Given the description of an element on the screen output the (x, y) to click on. 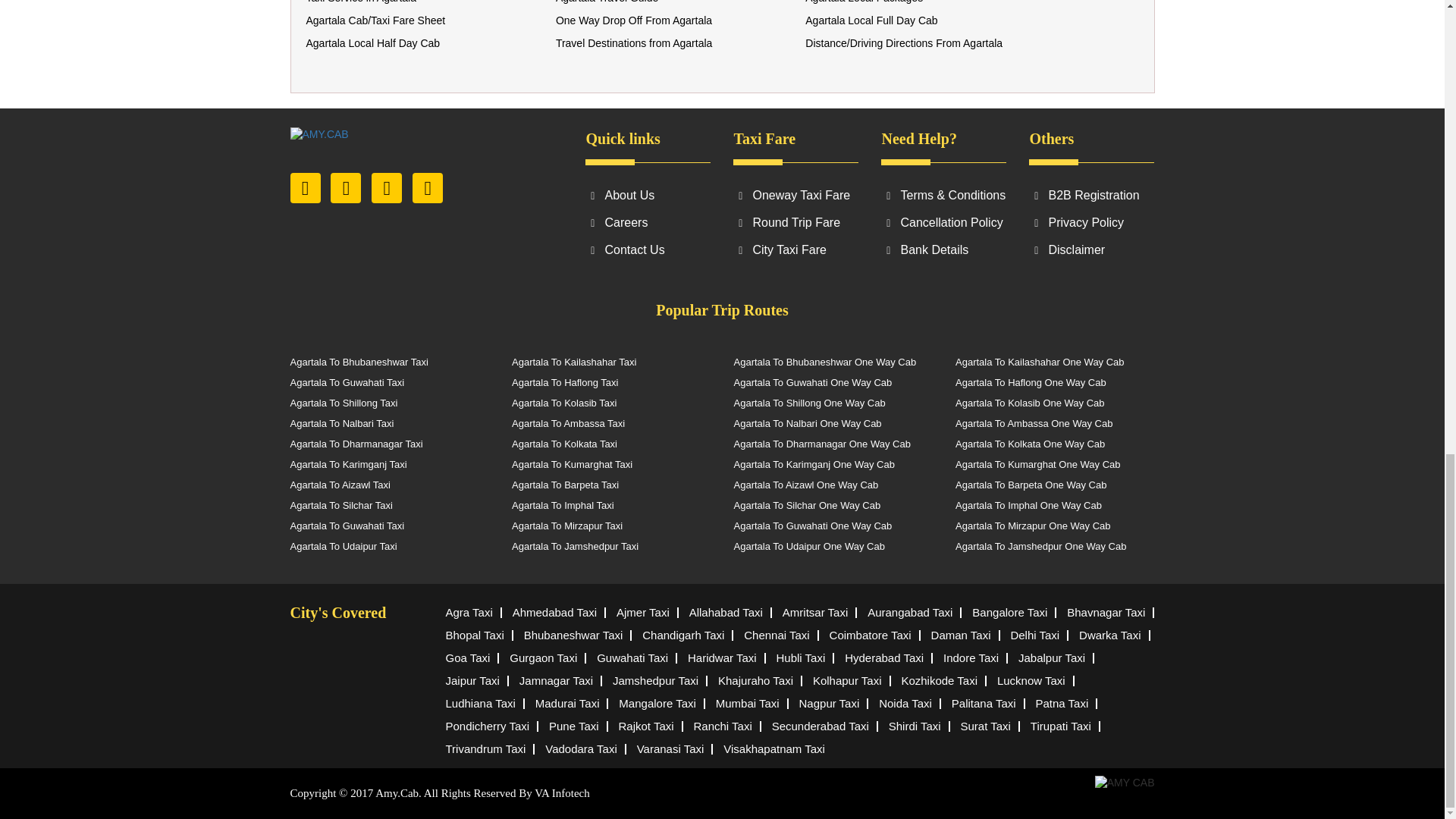
Round Trip Fare (796, 222)
Cancellation Policy (951, 222)
Bank Details (933, 249)
Travel Destinations from Agartala (633, 42)
Careers (625, 222)
Agartala Local Full Day Cab (871, 20)
One Way Drop Off From Agartala (633, 20)
Agartala Local Half Day Cab (373, 42)
About Us (628, 195)
Taxi Service in Agartala (360, 2)
